Given the description of an element on the screen output the (x, y) to click on. 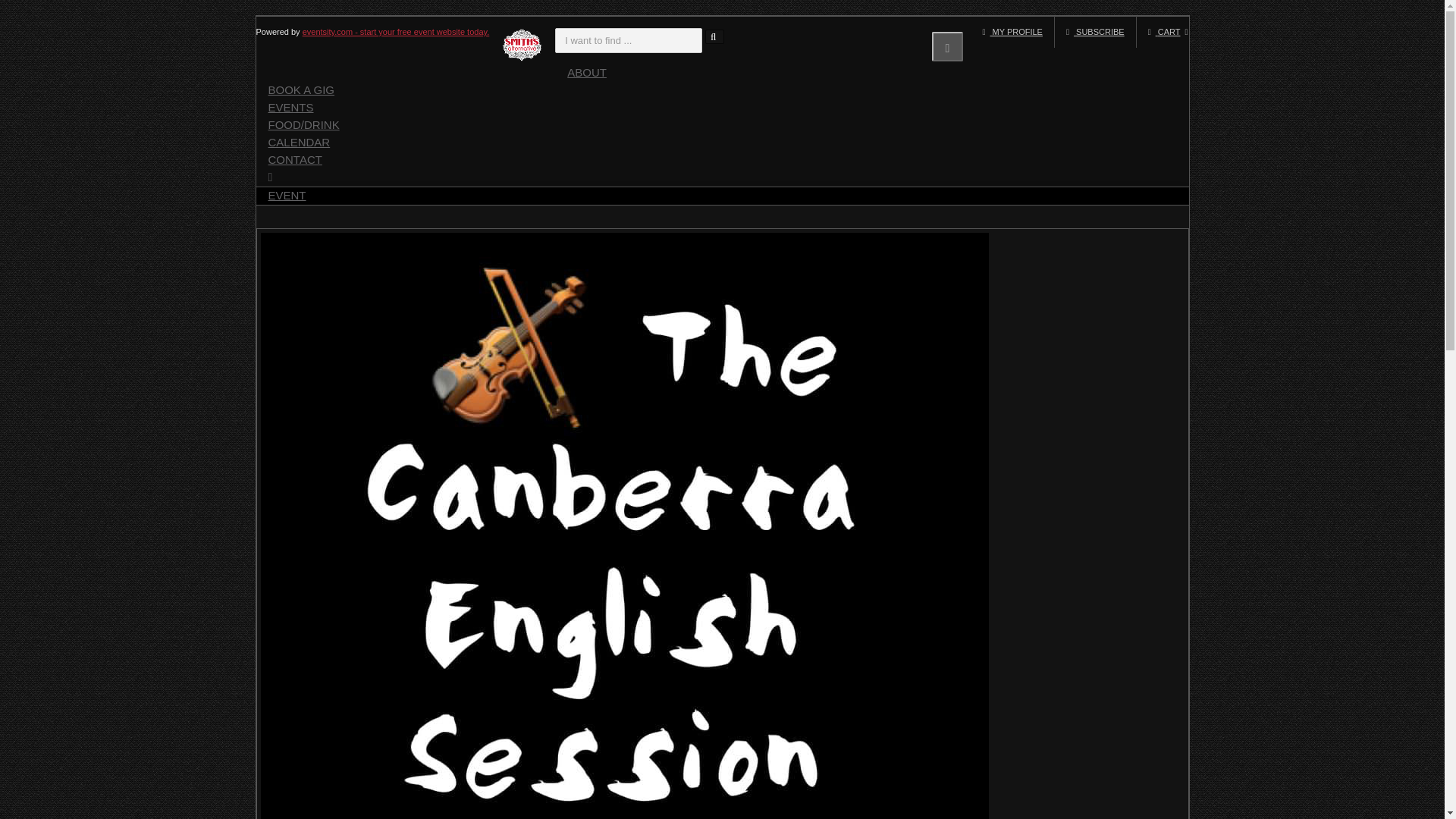
SUBSCRIBE (1094, 31)
EVENTS (291, 105)
CART (1162, 31)
View your shopping cart (1162, 31)
event ticketing (395, 31)
EVENT (287, 193)
Smith's Alternative (521, 47)
CONTACT (295, 158)
eventsity.com - start your free event website today. (395, 31)
CALENDAR (299, 140)
ABOUT (586, 70)
BOOK A GIG (301, 88)
MY PROFILE (1012, 31)
